Given the description of an element on the screen output the (x, y) to click on. 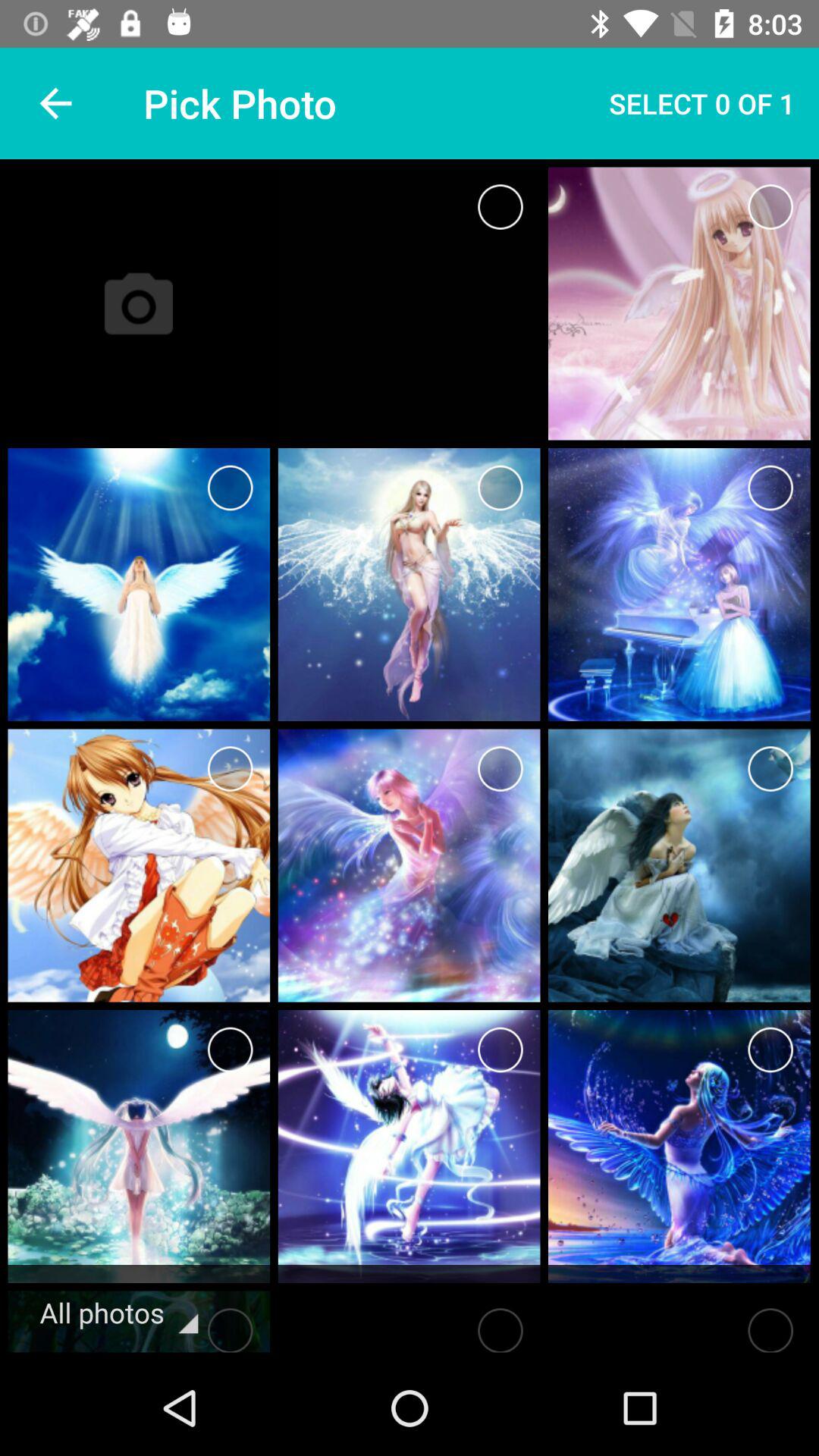
select image (500, 1049)
